Given the description of an element on the screen output the (x, y) to click on. 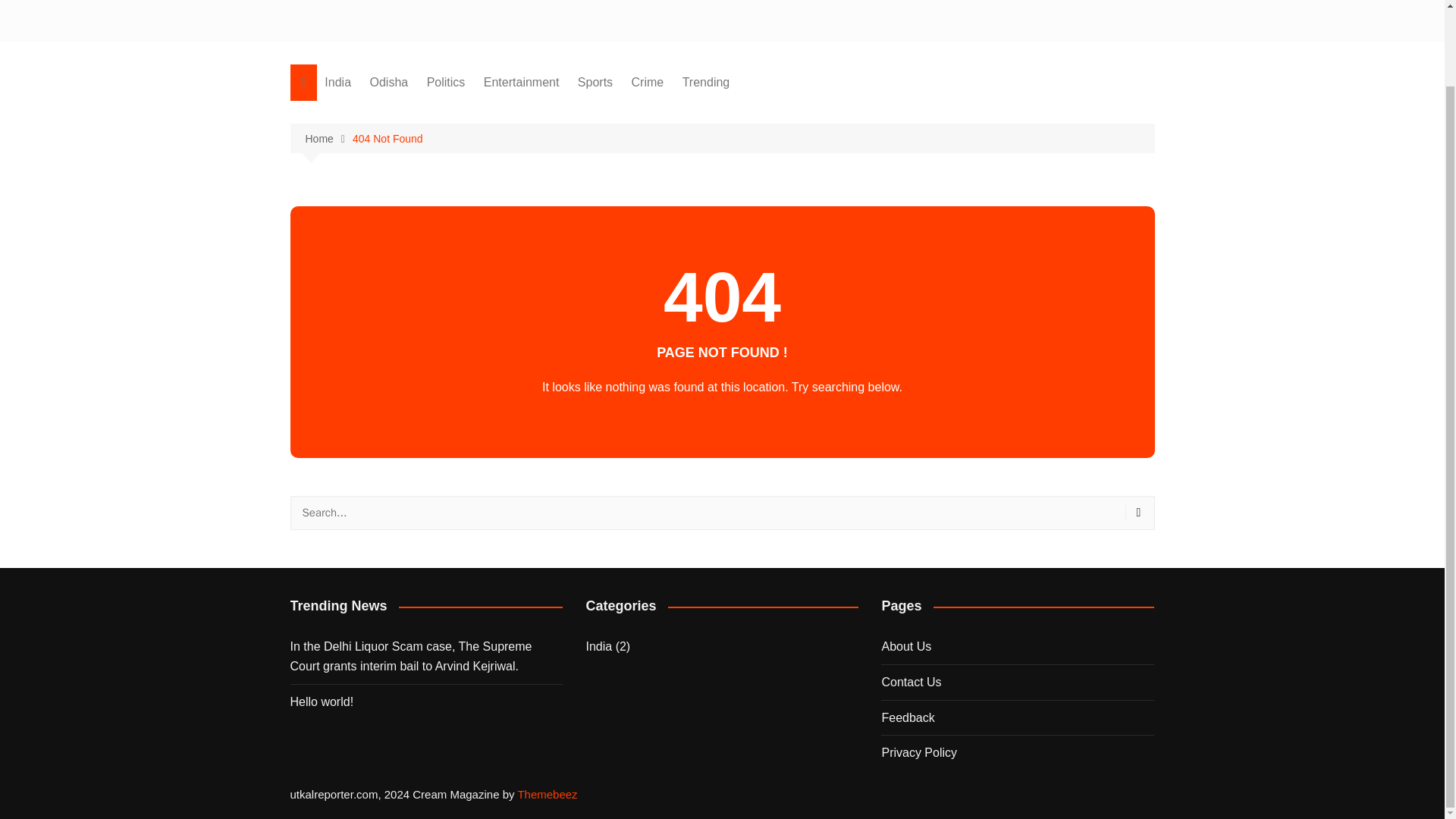
Feedback (907, 717)
Hello world! (425, 701)
Entertainment (521, 82)
Privacy Policy (918, 752)
Crime (647, 82)
India (598, 646)
India (337, 82)
About Us (905, 645)
Home (328, 139)
404 Not Found (387, 138)
Contact Us (910, 681)
Themebeez (546, 793)
Sports (595, 82)
Trending (706, 82)
